Given the description of an element on the screen output the (x, y) to click on. 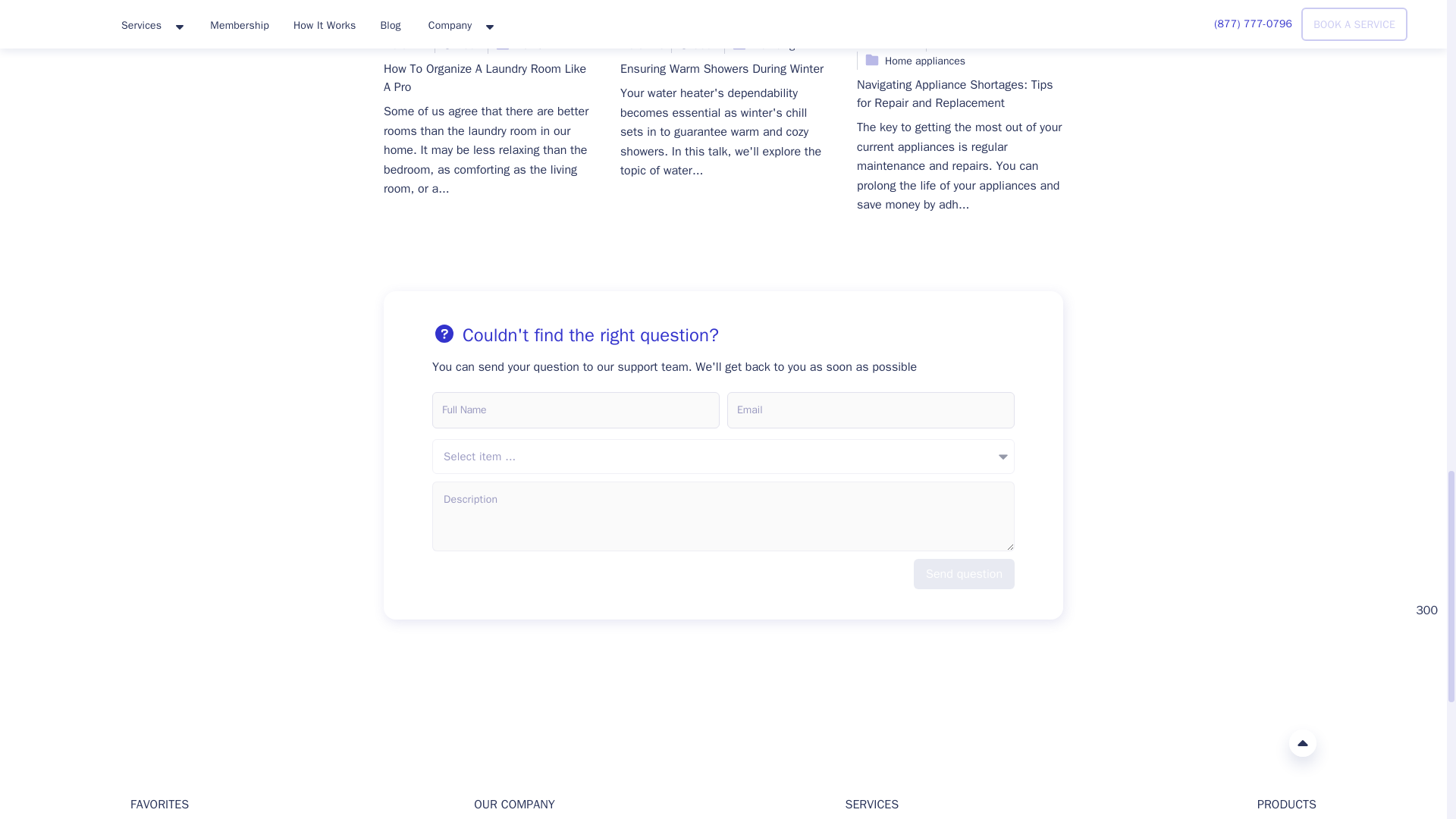
HomeAlliance (146, 742)
Blog (723, 14)
Select item ... (723, 456)
Blog (486, 14)
Blog (959, 14)
Send question (964, 573)
